Given the description of an element on the screen output the (x, y) to click on. 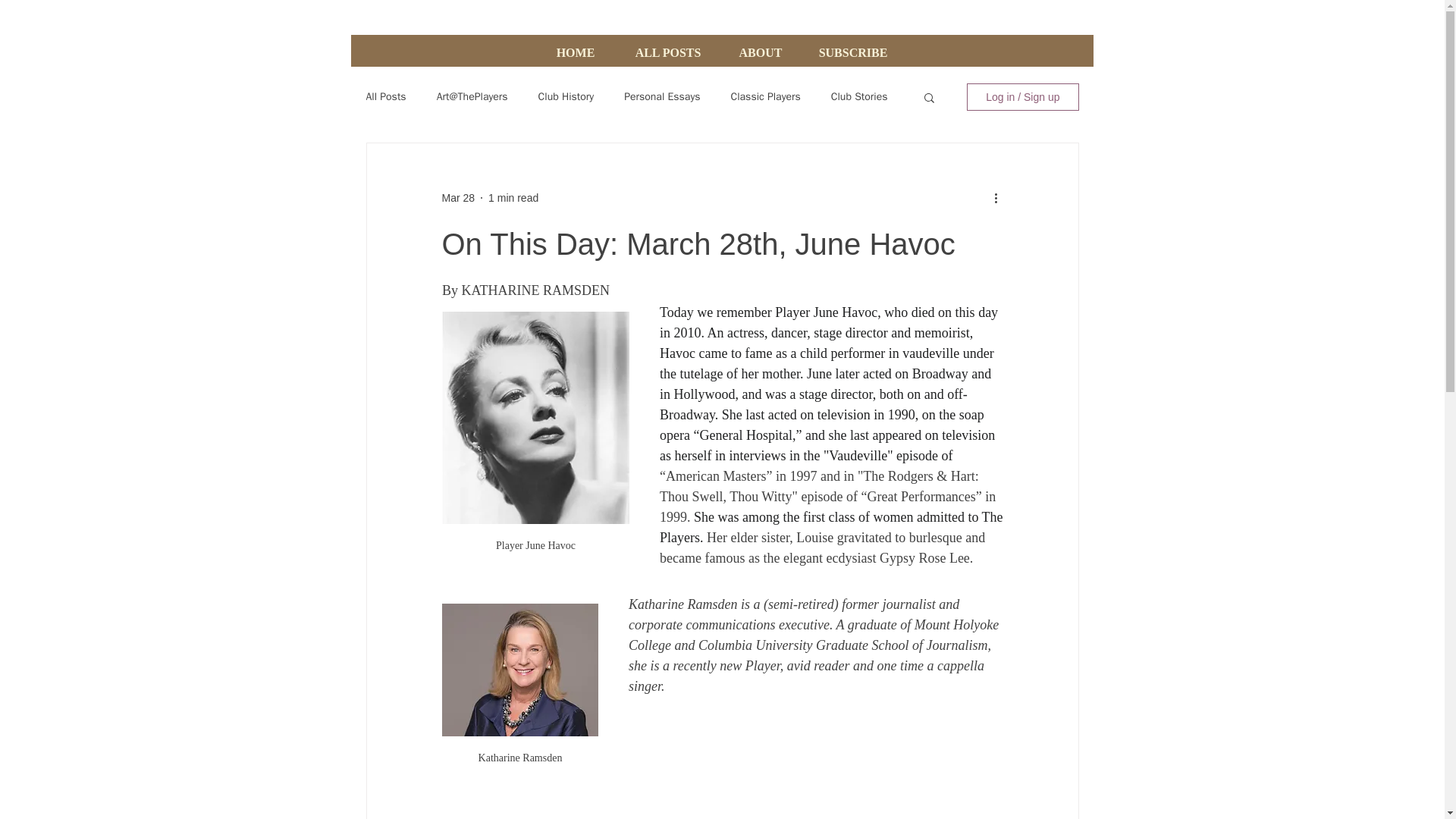
Mar 28 (457, 196)
Personal Essays (662, 97)
Club History (566, 97)
Classic Players (765, 97)
Club Stories (859, 97)
All Posts (385, 97)
ALL POSTS (667, 52)
SUBSCRIBE (852, 52)
HOME (575, 52)
1 min read (512, 196)
